Given the description of an element on the screen output the (x, y) to click on. 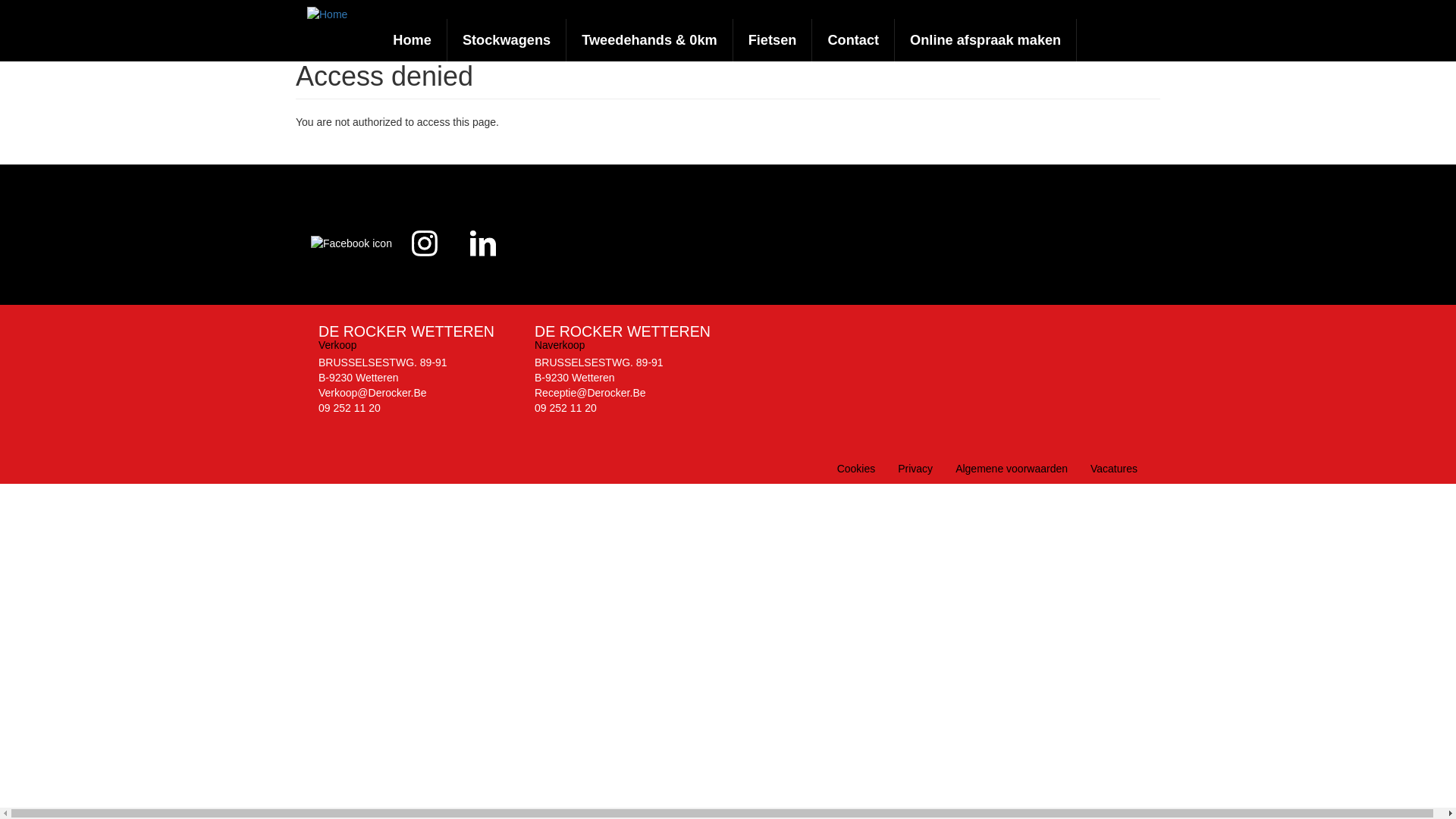
Privacy Element type: text (915, 468)
Stockwagens Element type: text (506, 39)
Home Element type: text (412, 39)
Cookies Element type: text (856, 468)
Facebook Element type: hover (351, 247)
Tweedehands & 0km Element type: text (649, 39)
Home Element type: hover (332, 13)
Skip to main content Element type: text (0, 0)
LinkedIn Element type: hover (482, 247)
Algemene voorwaarden Element type: text (1011, 468)
Vacatures Element type: text (1113, 468)
Instagram Element type: hover (424, 247)
Fietsen Element type: text (772, 39)
Online afspraak maken Element type: text (985, 39)
Verkoop@Derocker.Be Element type: text (372, 392)
Contact Element type: text (853, 39)
Receptie@Derocker.Be Element type: text (590, 392)
